Given the description of an element on the screen output the (x, y) to click on. 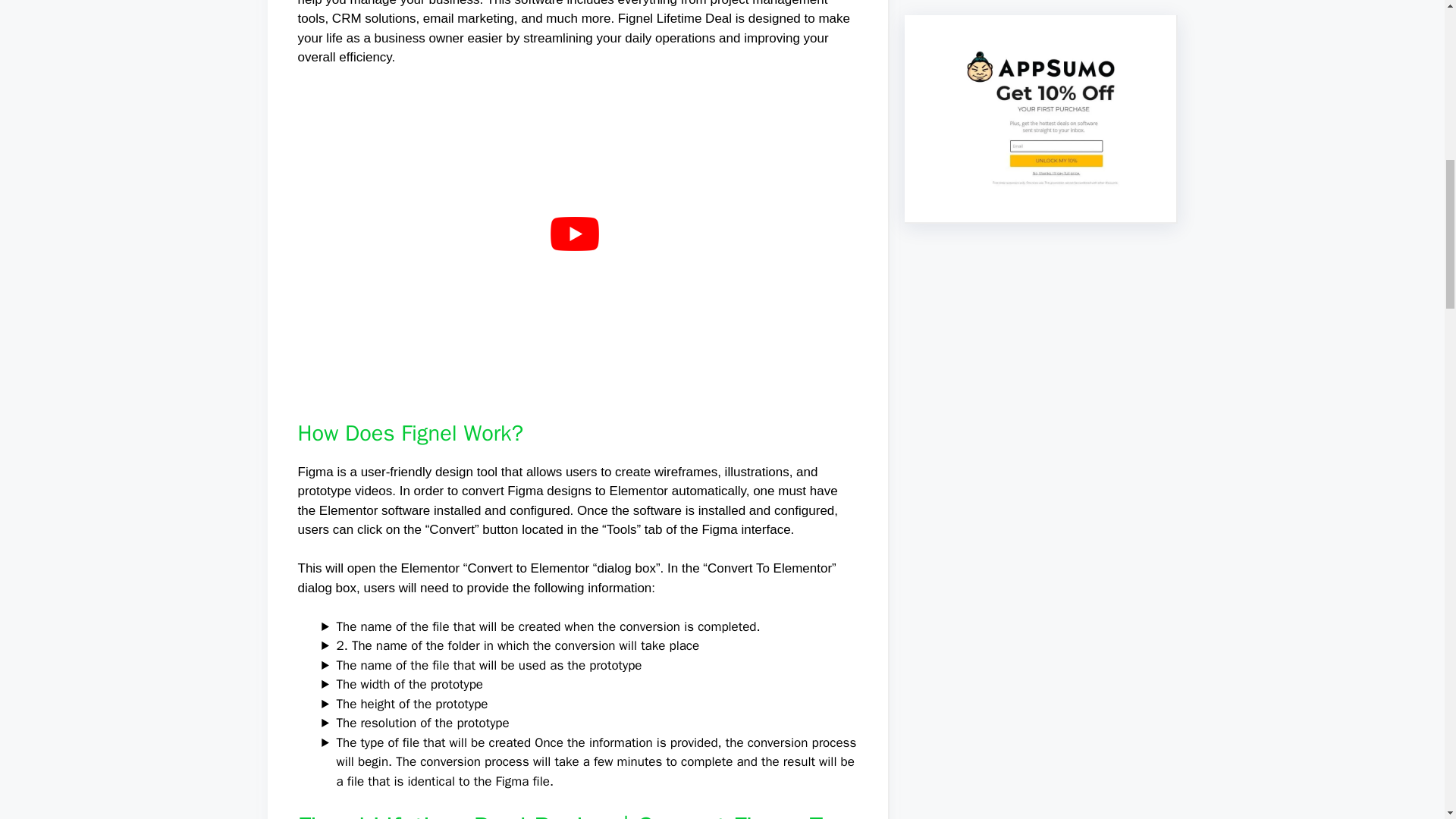
Scroll back to top (1406, 720)
